Given the description of an element on the screen output the (x, y) to click on. 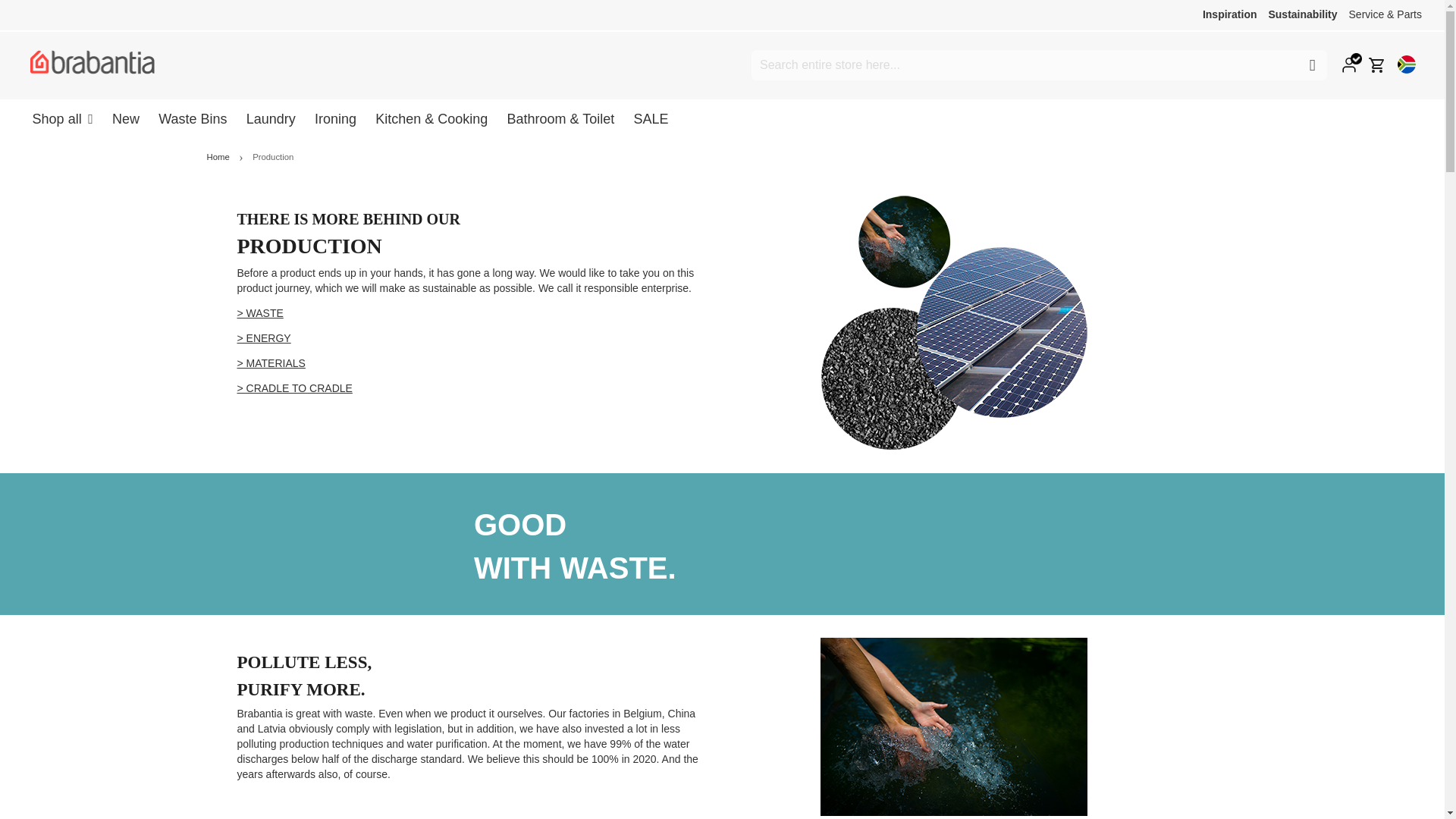
Go to Home Page (218, 156)
Shop all (62, 118)
Sustainability (1302, 14)
My Cart (1377, 64)
waste (258, 313)
Inspiration (1229, 14)
